Given the description of an element on the screen output the (x, y) to click on. 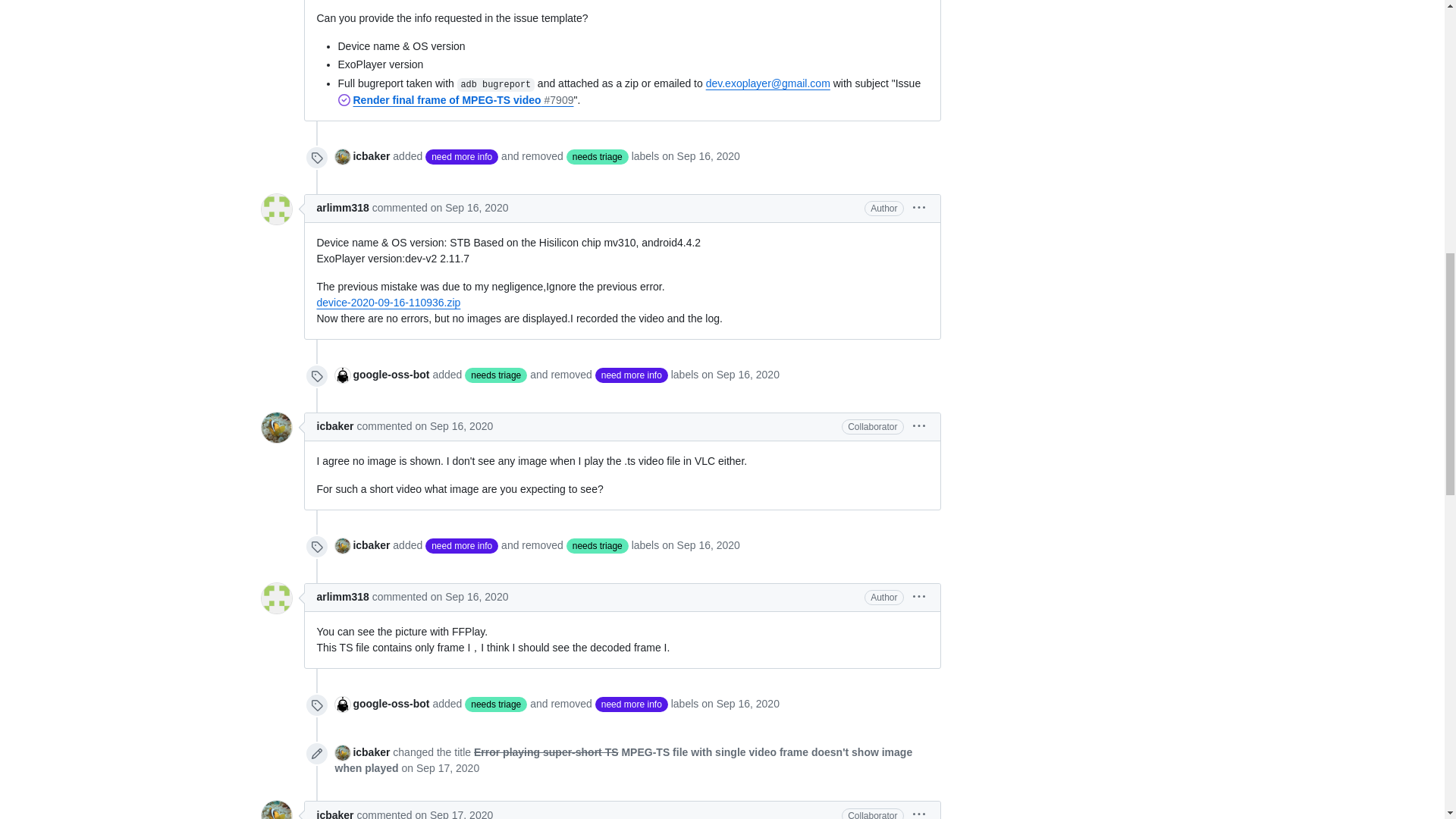
Closed (343, 100)
